Given the description of an element on the screen output the (x, y) to click on. 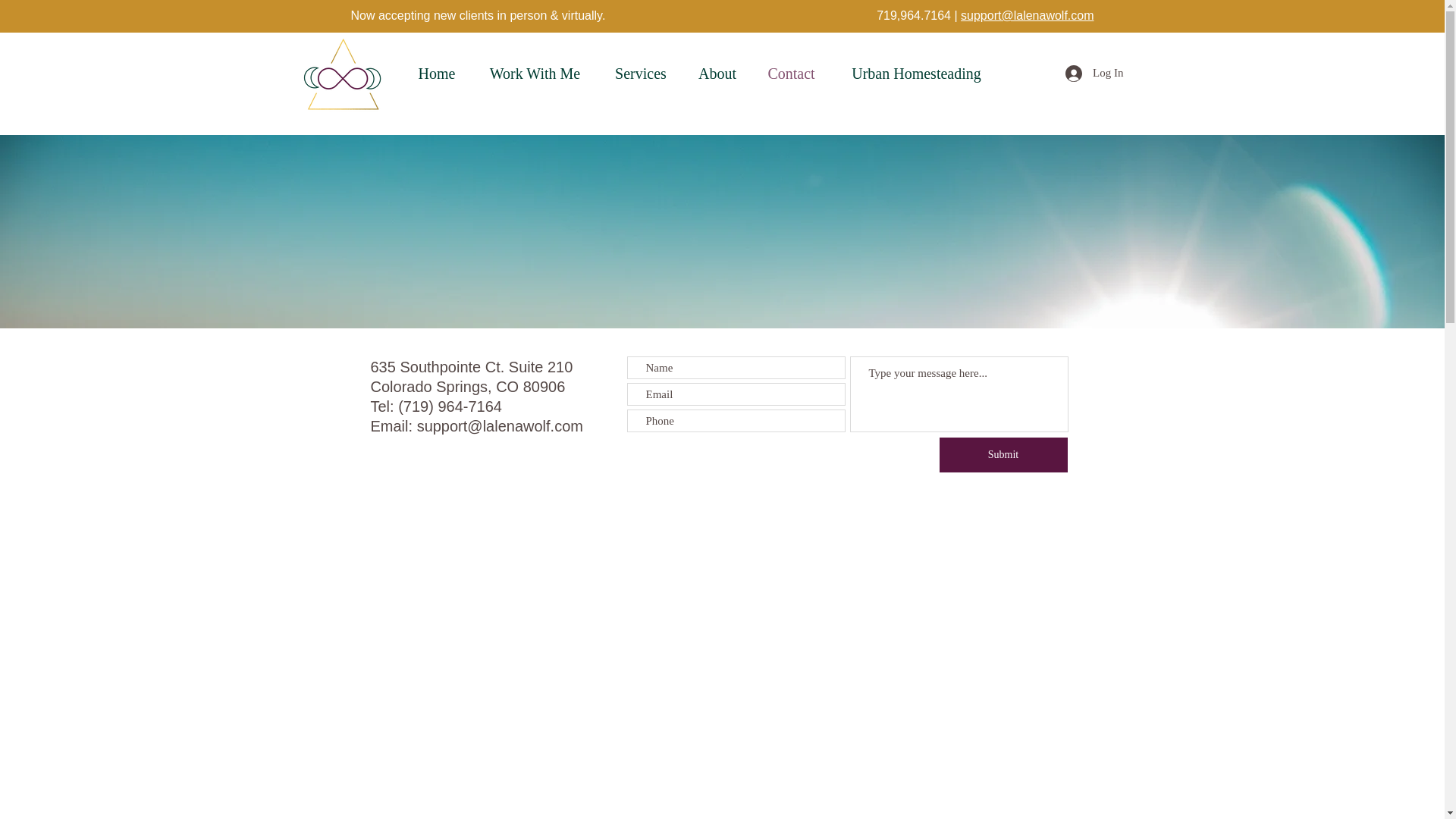
Services (640, 73)
Submit (1003, 454)
Home (435, 73)
Contact (791, 73)
Log In (1094, 73)
Urban Homesteading (917, 73)
About (716, 73)
